Given the description of an element on the screen output the (x, y) to click on. 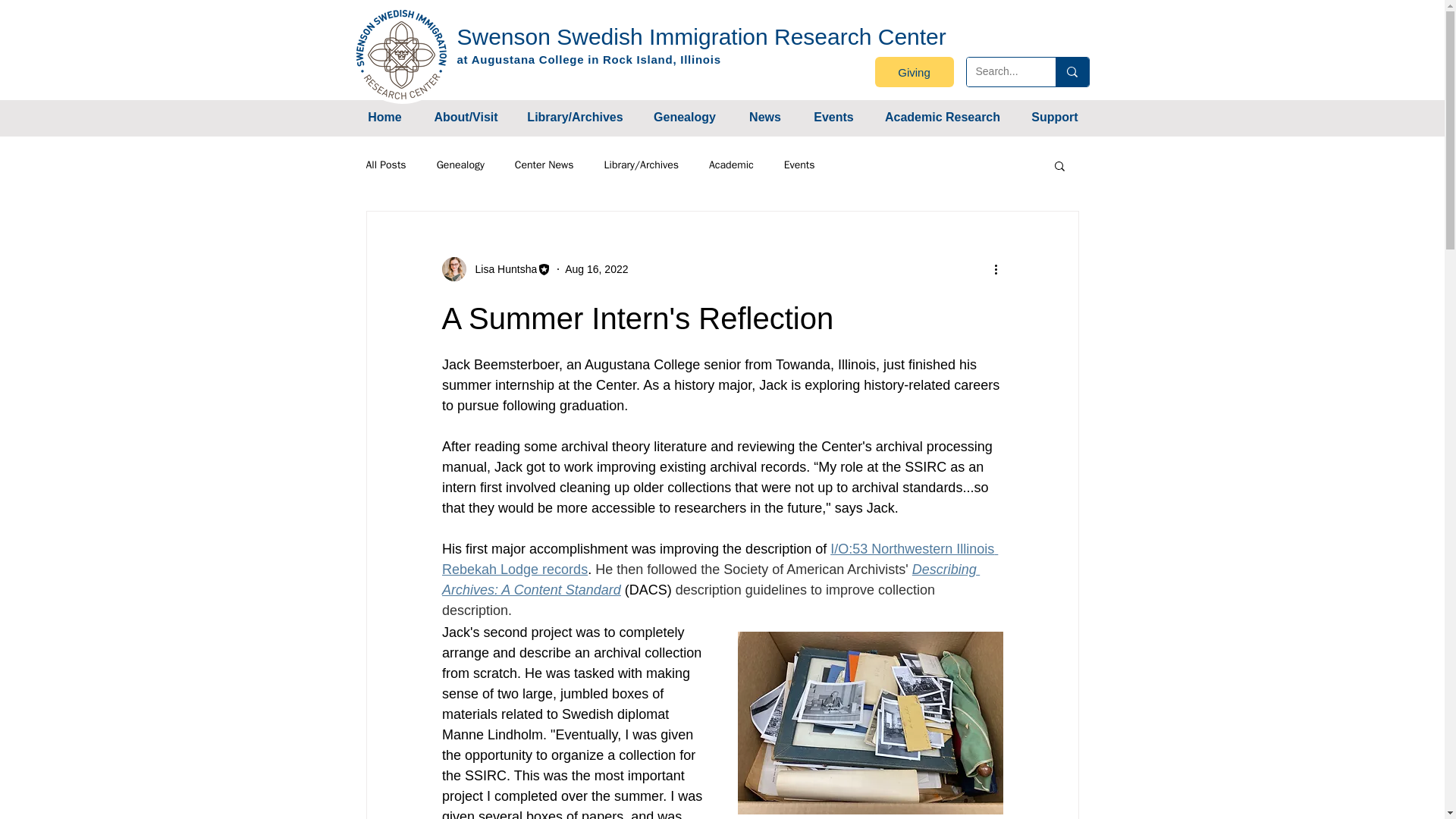
Aug 16, 2022 (595, 268)
Genealogy (684, 116)
Events (833, 116)
Home (384, 116)
Lisa Huntsha (501, 268)
News (764, 116)
LogoVariable3.png (401, 54)
